Given the description of an element on the screen output the (x, y) to click on. 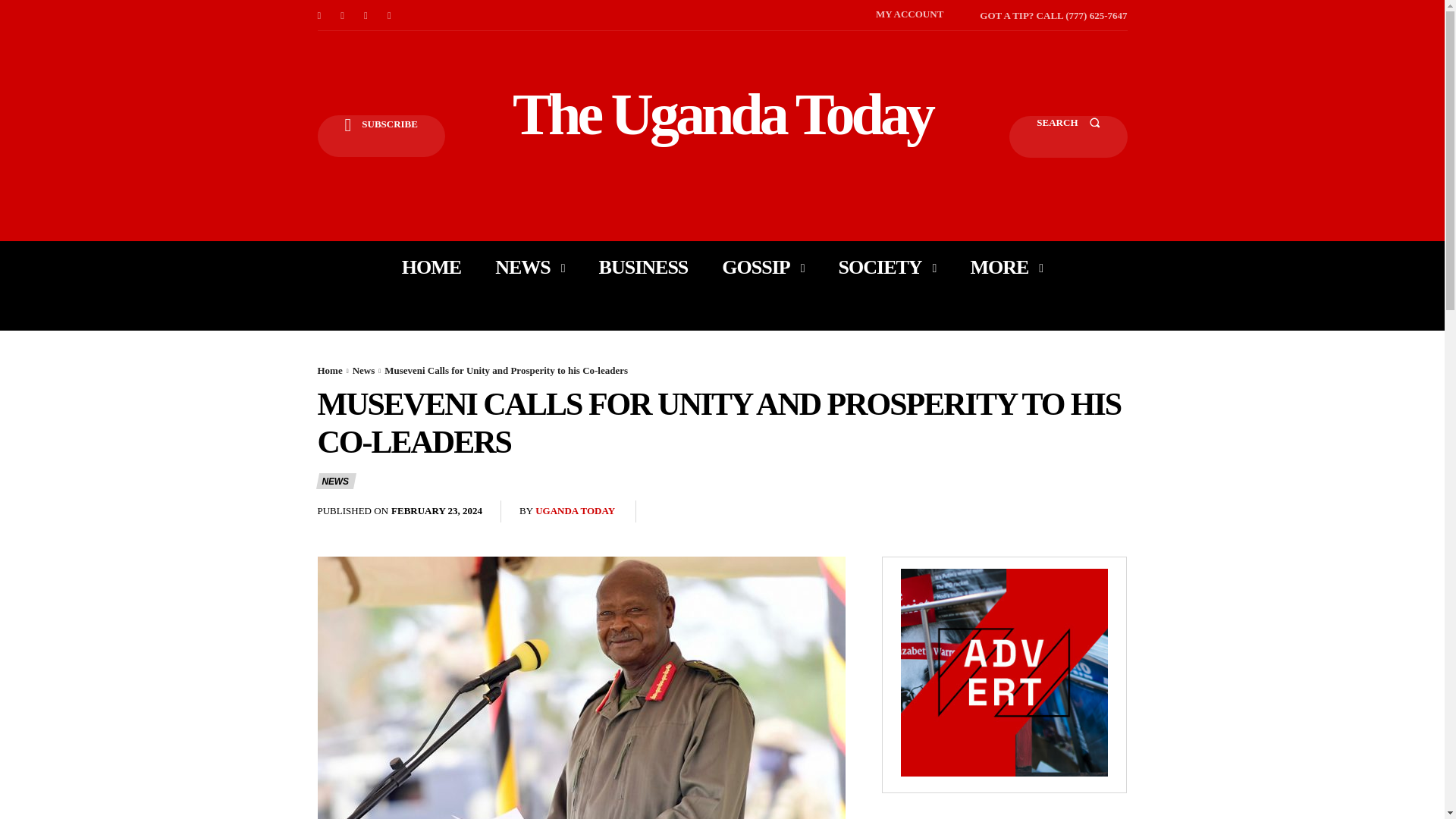
SUBSCRIBE (380, 136)
Twitter (389, 15)
Search (1067, 137)
Instagram (342, 15)
SEARCH (1067, 137)
NEWS (529, 267)
Subscribe (380, 136)
The Uganda Today (722, 113)
TikTok (366, 15)
HOME (431, 267)
